Given the description of an element on the screen output the (x, y) to click on. 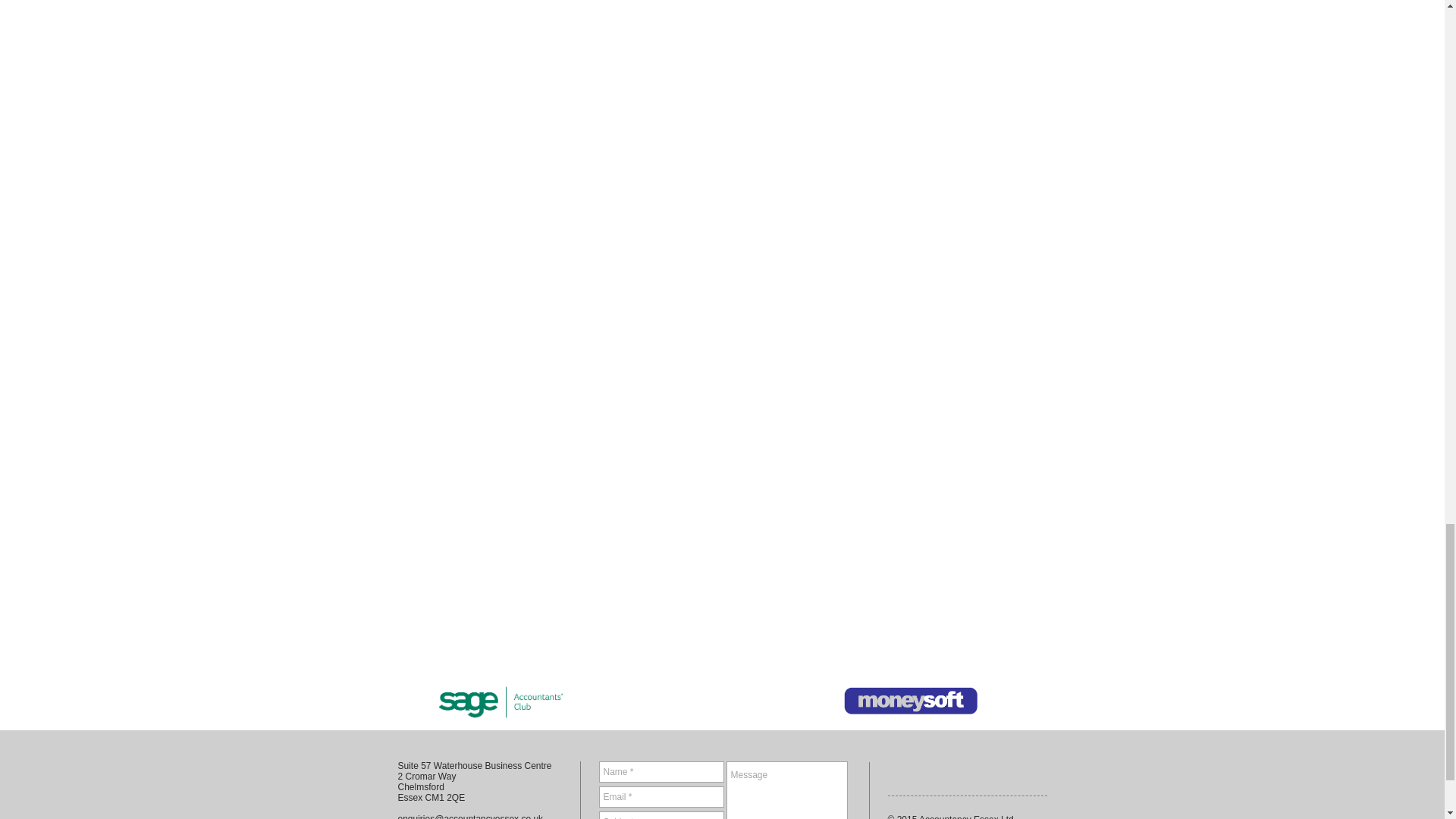
Accountant Essex (910, 700)
Accountant Essex (501, 700)
